Given the description of an element on the screen output the (x, y) to click on. 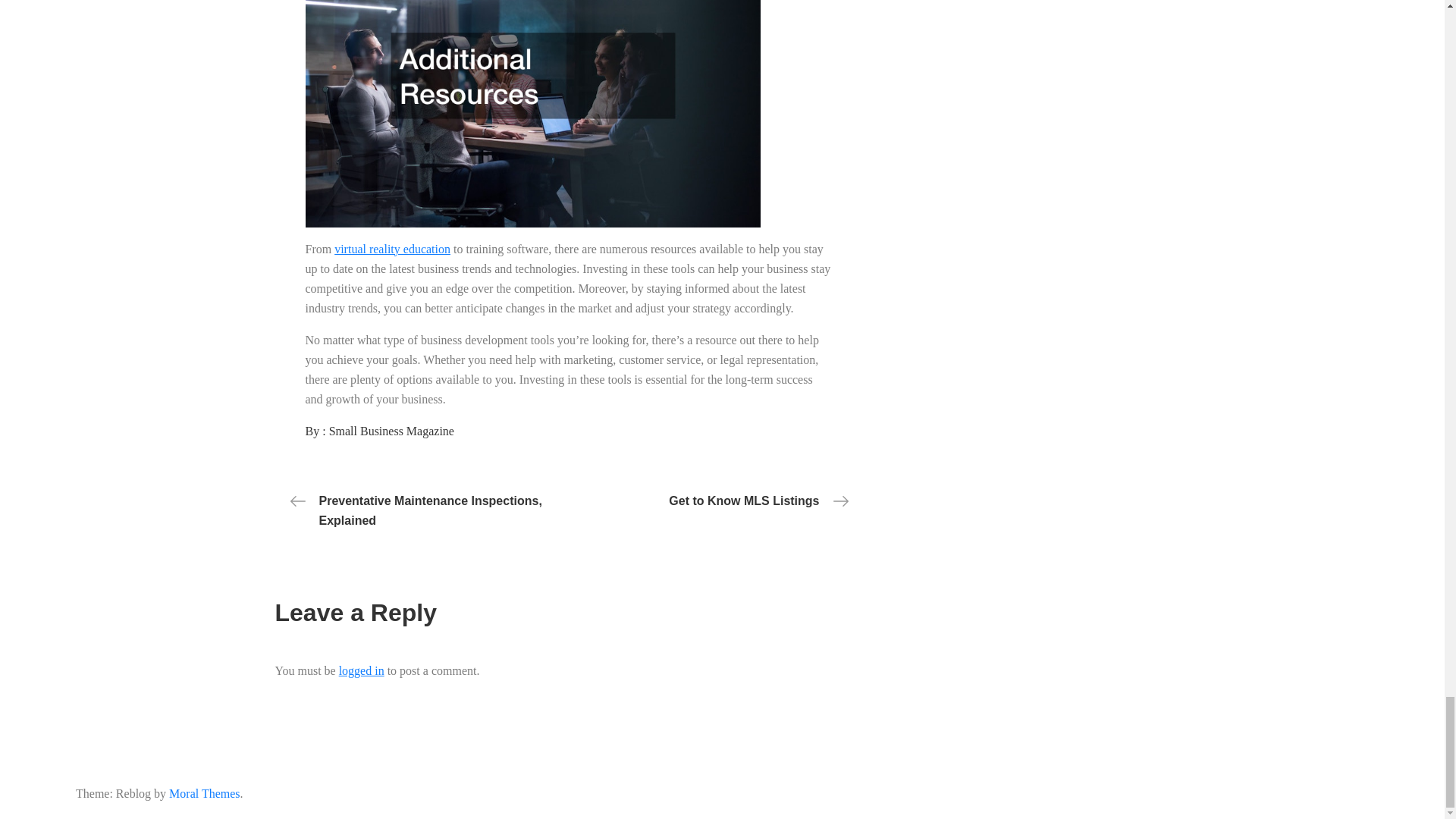
logged in (361, 670)
Small Business Magazine (391, 431)
Moral Themes (204, 793)
virtual reality education (391, 248)
